Given the description of an element on the screen output the (x, y) to click on. 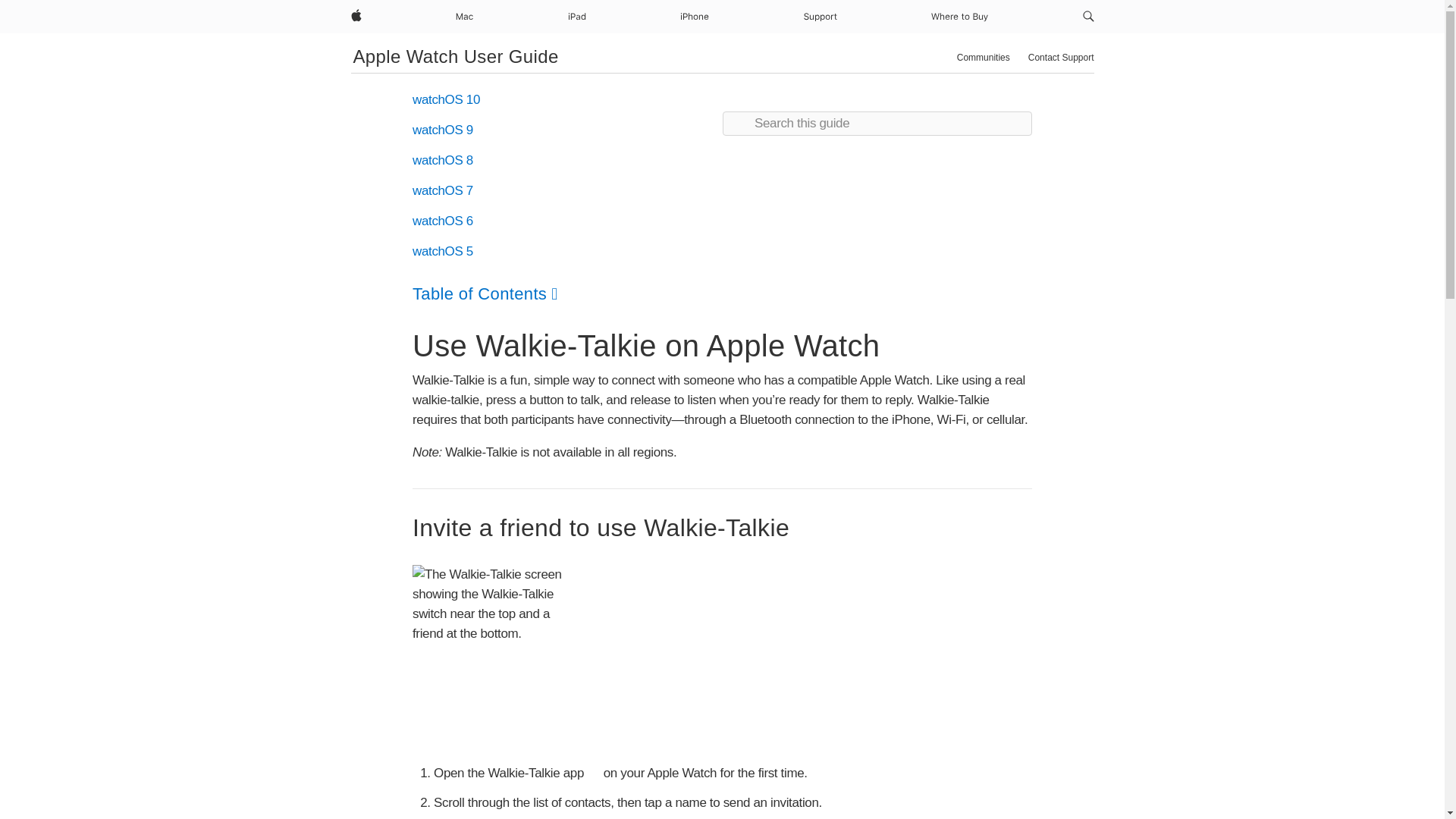
Table of Contents (484, 293)
watchOS 5 (442, 251)
watchOS 9 (442, 129)
Support (820, 16)
watchOS 8 (442, 160)
watchOS 6 (442, 220)
Contact Support (1060, 57)
Communities (983, 57)
watchOS 7 (442, 190)
Where to Buy (959, 16)
